Given the description of an element on the screen output the (x, y) to click on. 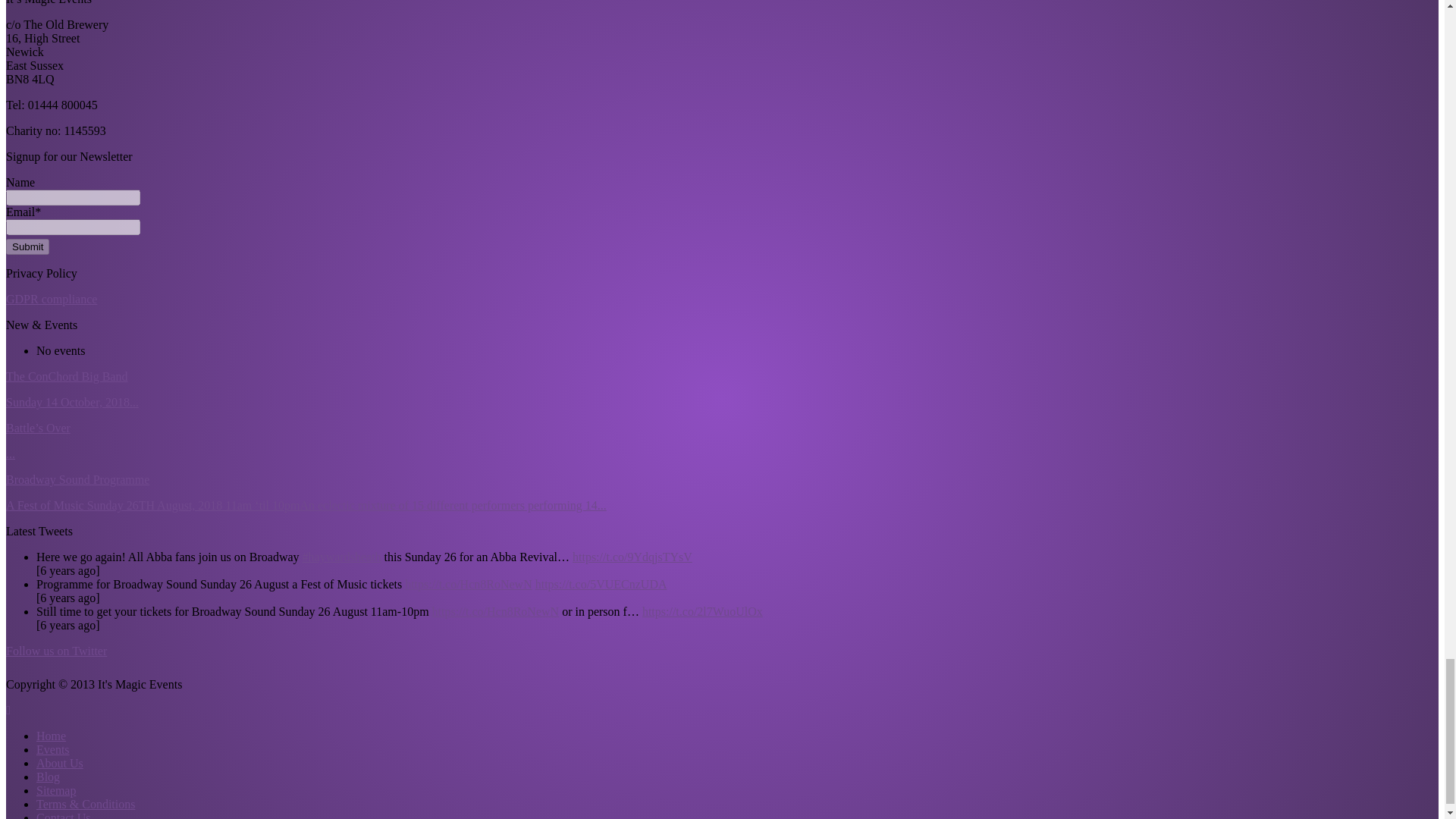
Submit (27, 246)
